Given the description of an element on the screen output the (x, y) to click on. 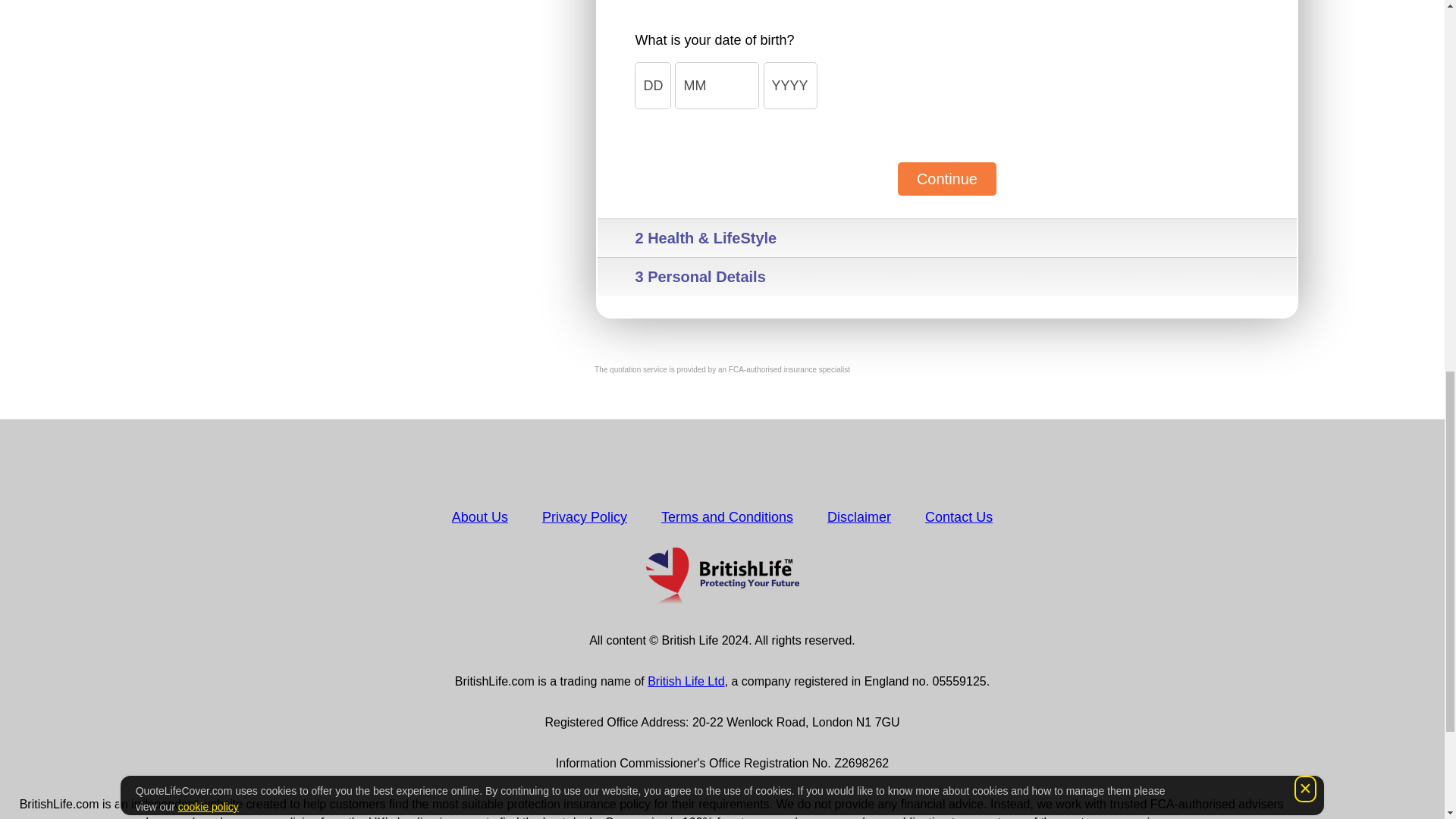
British Life Ltd (685, 680)
Disclaimer (859, 516)
Terms and Conditions (727, 516)
About Us (479, 516)
Privacy Policy (584, 516)
Contact Us (958, 516)
